Given the description of an element on the screen output the (x, y) to click on. 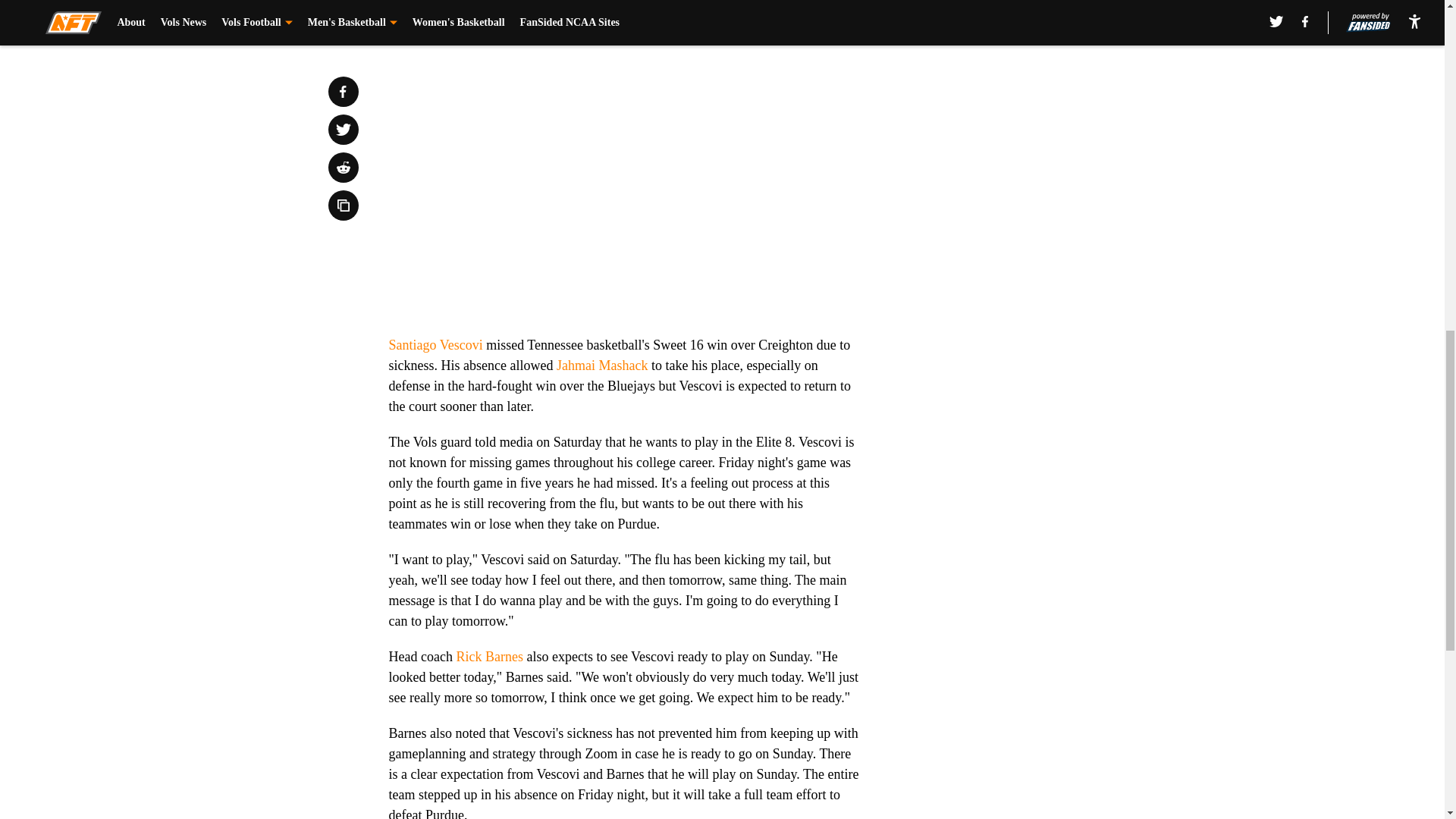
Santiago Vescovi (434, 344)
Jahmai Mashack (601, 365)
Rick Barnes (488, 656)
